Given the description of an element on the screen output the (x, y) to click on. 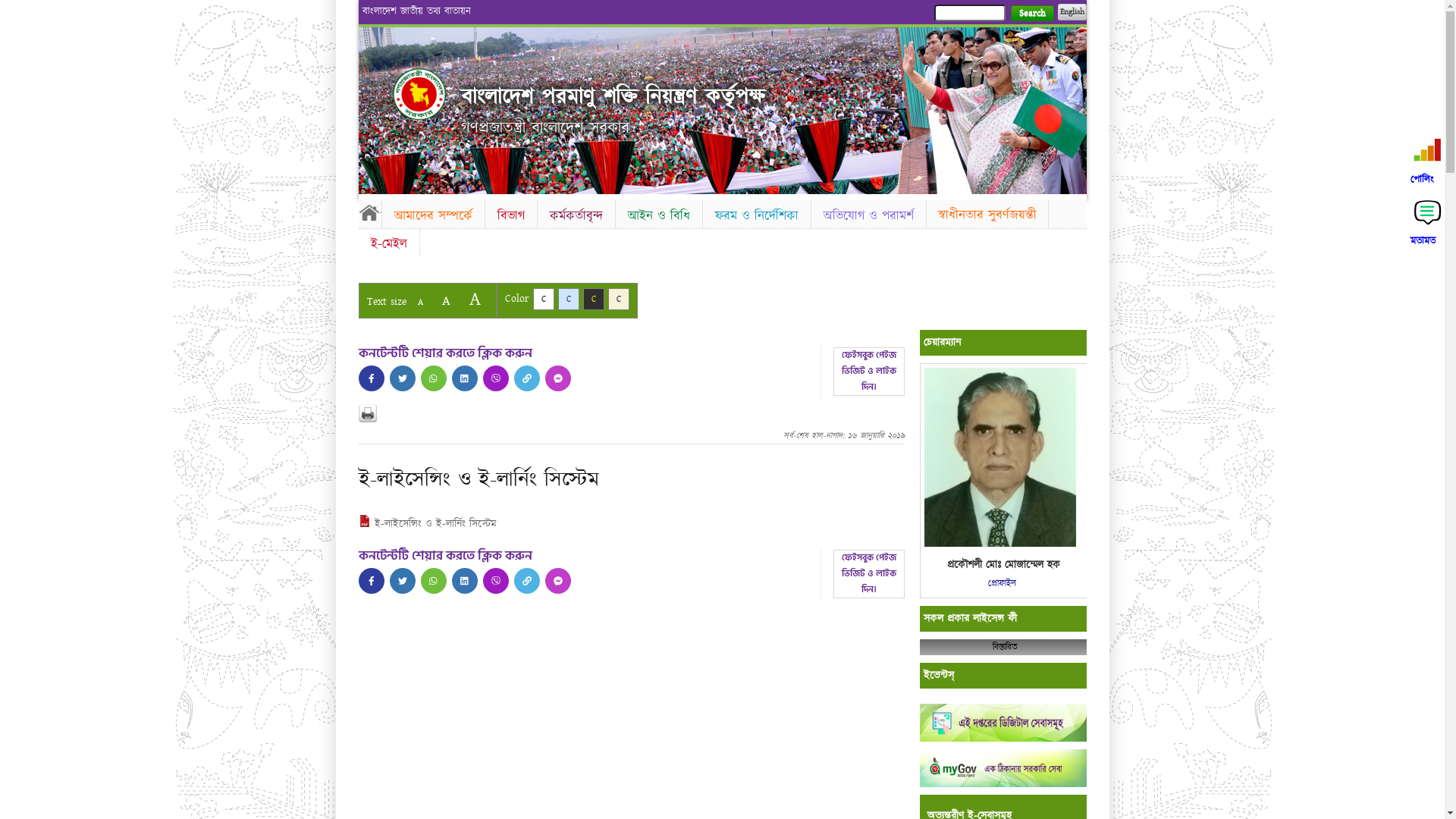
English Element type: text (1071, 11)
Search Element type: text (1031, 13)
A Element type: text (474, 298)
C Element type: text (542, 299)
C Element type: text (592, 299)
C Element type: text (618, 299)
Home Element type: hover (418, 93)
Home Element type: hover (368, 211)
C Element type: text (568, 299)
A Element type: text (419, 301)
A Element type: text (445, 300)
